Given the description of an element on the screen output the (x, y) to click on. 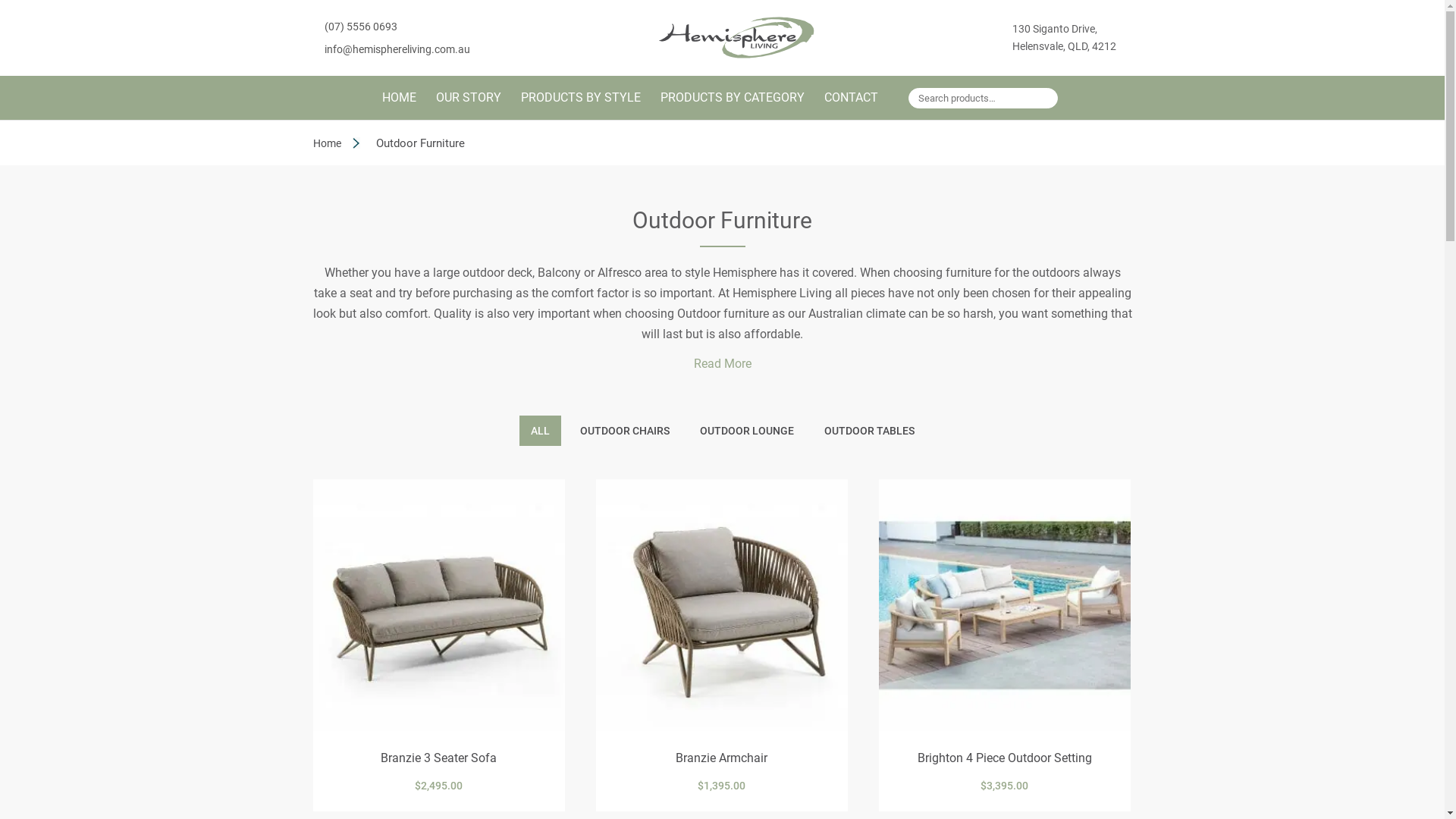
ALL Element type: text (539, 430)
Read More Element type: text (721, 363)
CONTACT Element type: text (851, 105)
Branzie Armchair
$1,395.00 Element type: text (721, 645)
OUTDOOR TABLES Element type: text (868, 430)
OUTDOOR CHAIRS Element type: text (624, 430)
PRODUCTS BY CATEGORY Element type: text (732, 105)
Branzie 3 Seater Sofa
$2,495.00 Element type: text (438, 645)
(07) 5556 0693 Element type: text (360, 26)
info@hemisphereliving.com.au Element type: text (397, 49)
Brighton 4 Piece Outdoor Setting
$3,395.00 Element type: text (1004, 645)
PRODUCTS BY STYLE Element type: text (580, 105)
Home Element type: text (326, 143)
Search Element type: text (1041, 101)
OUTDOOR LOUNGE Element type: text (746, 430)
OUR STORY Element type: text (468, 105)
HOME Element type: text (399, 105)
